Given the description of an element on the screen output the (x, y) to click on. 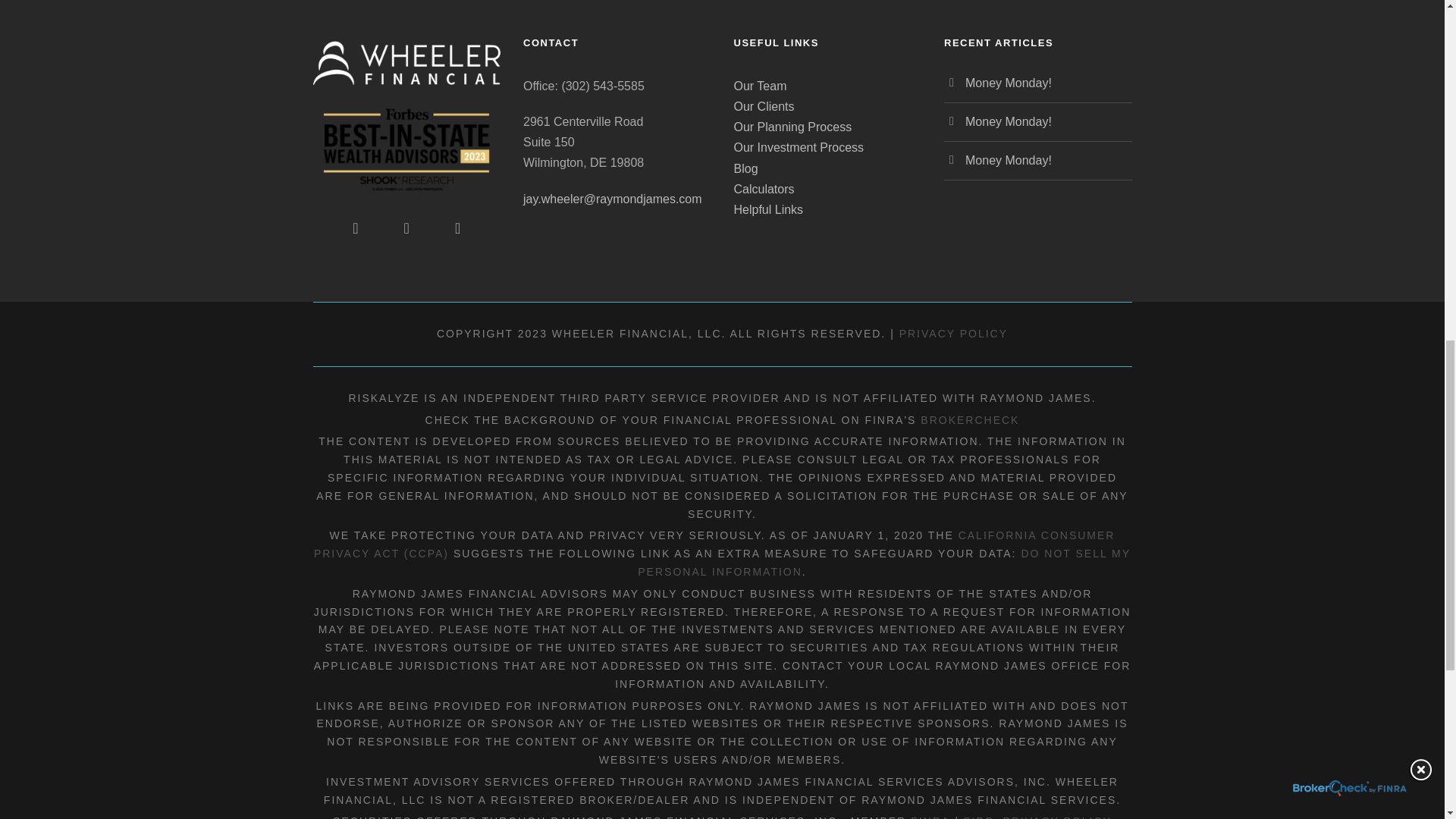
Money Monday! (1008, 121)
linkedin (406, 227)
Helpful Links (768, 209)
twitter (457, 227)
Our Clients (763, 106)
PRIVACY POLICY (953, 333)
Our Team (760, 85)
Our Investment Process (798, 146)
Money Monday! (1008, 82)
Calculators (763, 188)
Blog (745, 168)
Money Monday! (1008, 160)
Our Planning Process (792, 126)
facebook (355, 227)
